Given the description of an element on the screen output the (x, y) to click on. 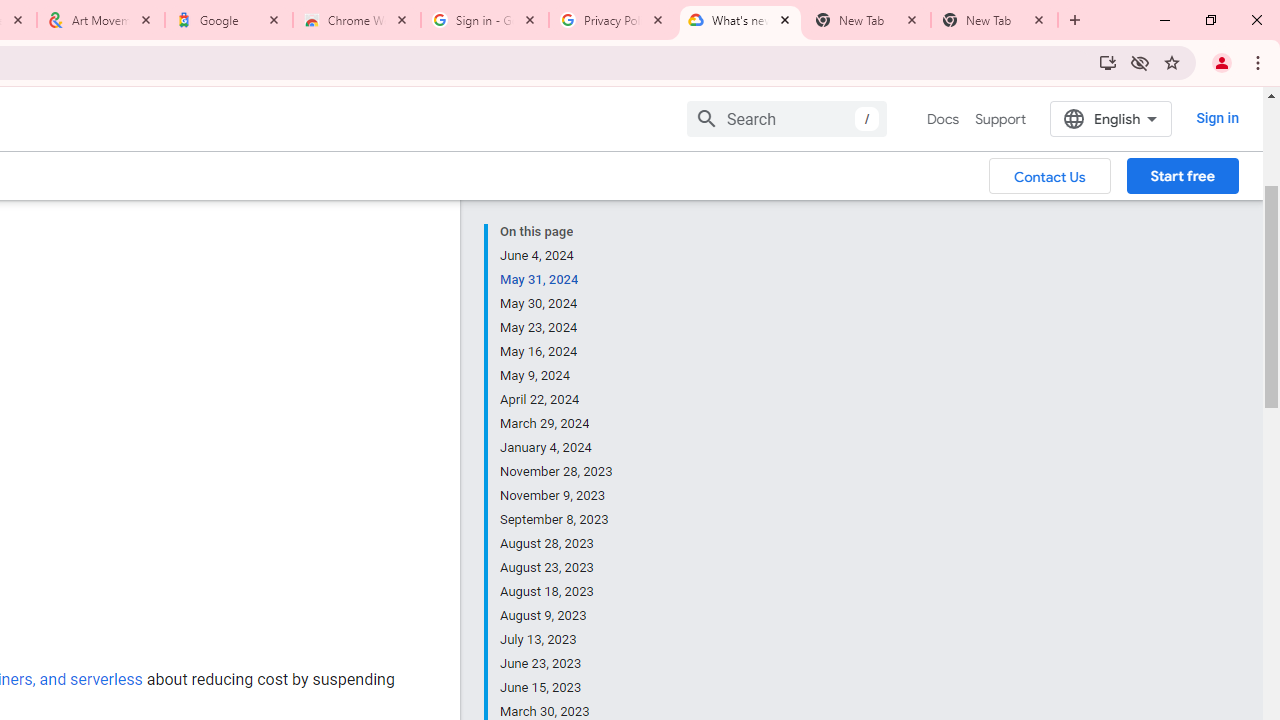
September 8, 2023 (557, 520)
Install Google Cloud (1107, 62)
August 18, 2023 (557, 592)
July 13, 2023 (557, 639)
May 16, 2024 (557, 351)
Start free (1182, 175)
New Tab (994, 20)
May 23, 2024 (557, 327)
August 28, 2023 (557, 543)
Contact Us (1050, 175)
Chrome Web Store - Color themes by Chrome (357, 20)
May 31, 2024 (557, 279)
